Given the description of an element on the screen output the (x, y) to click on. 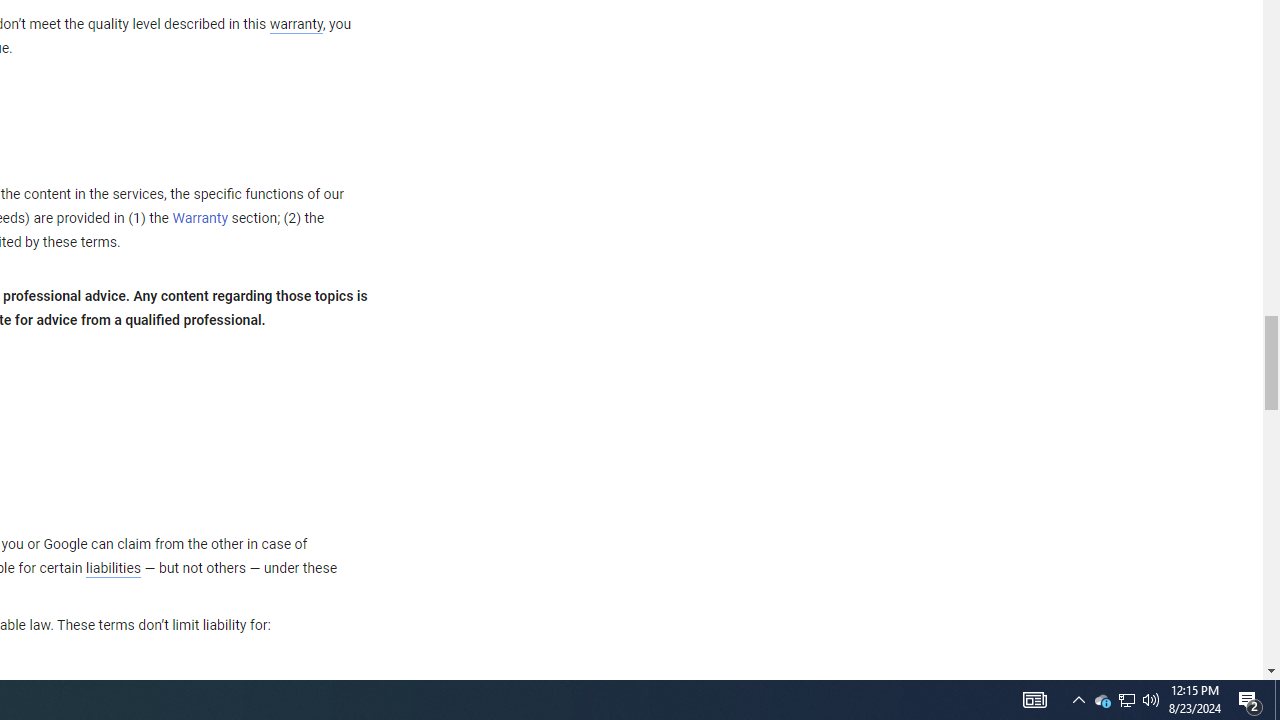
Warranty (200, 219)
warranty (295, 25)
liabilities (113, 568)
